Given the description of an element on the screen output the (x, y) to click on. 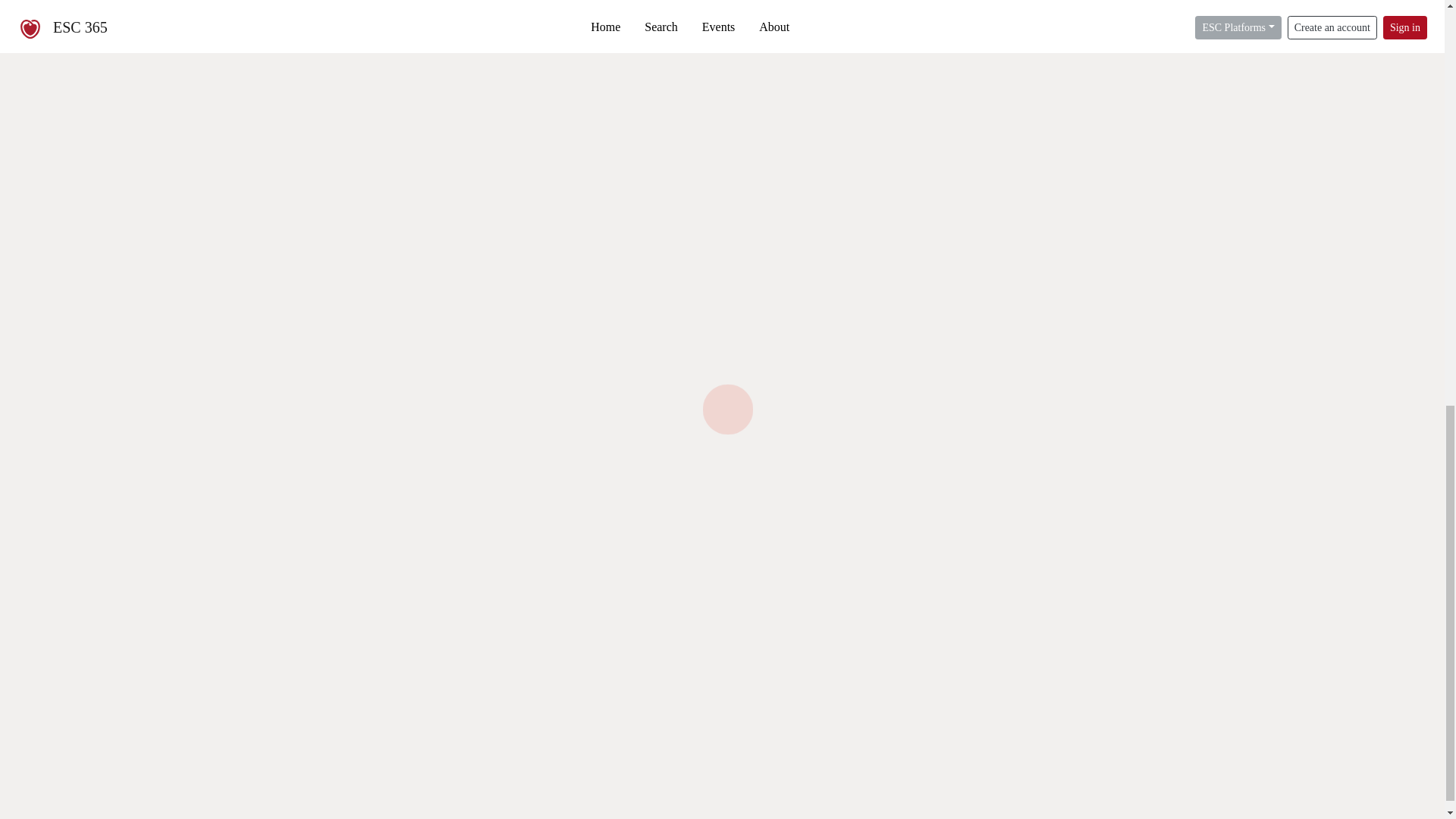
FAQ (326, 806)
Explore sponsored resources (722, 711)
Contact us (975, 806)
